Given the description of an element on the screen output the (x, y) to click on. 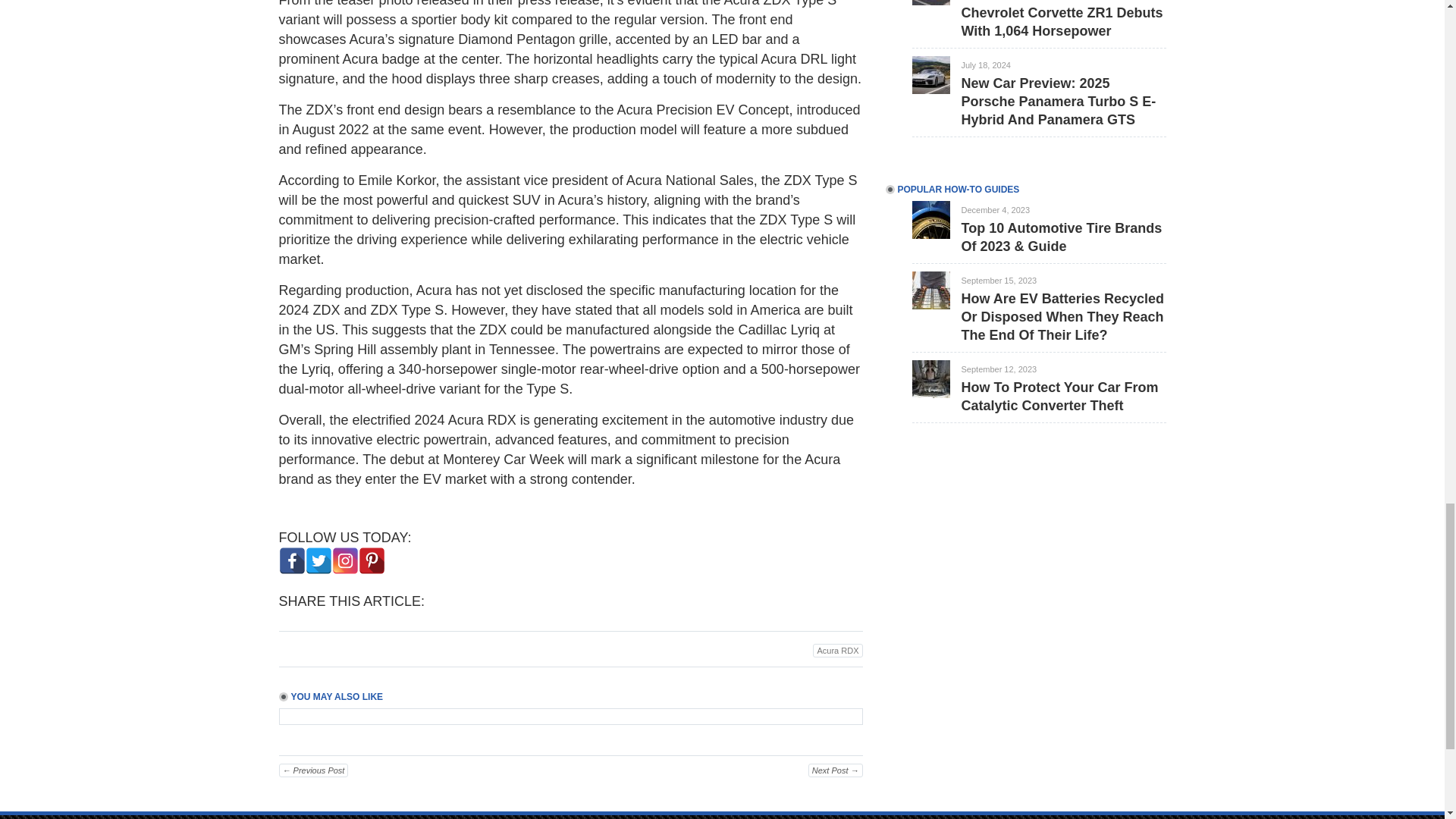
Pinterest (371, 560)
Twitter (317, 560)
Facebook (292, 560)
Instagram (344, 560)
